Given the description of an element on the screen output the (x, y) to click on. 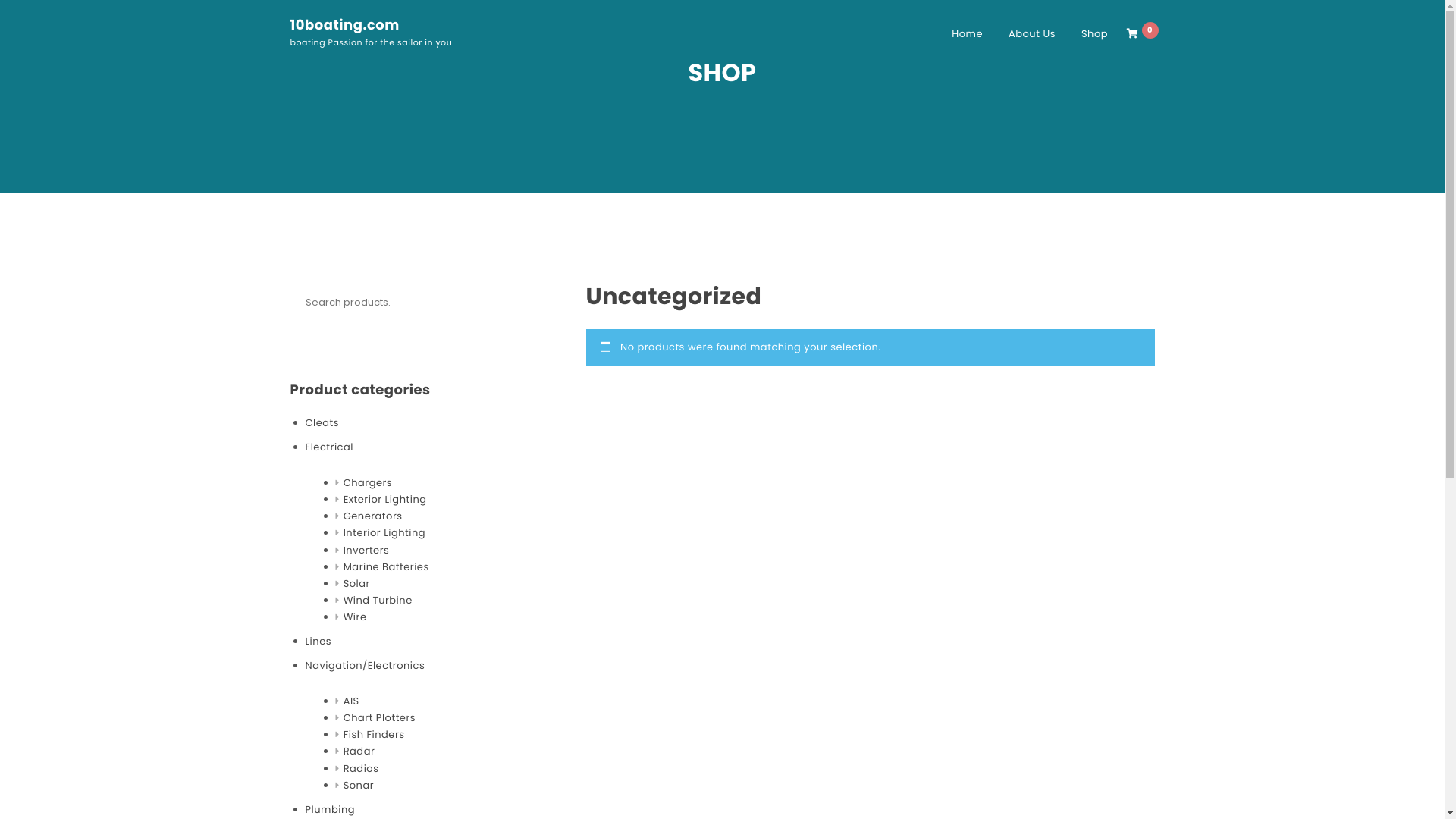
Search Element type: text (48, 20)
Fish Finders Element type: text (373, 734)
Shop Element type: text (1094, 33)
Inverters Element type: text (366, 550)
Lines Element type: text (317, 641)
Chargers Element type: text (367, 482)
Navigation/Electronics Element type: text (364, 665)
Exterior Lighting Element type: text (384, 499)
Solar Element type: text (356, 583)
Chart Plotters Element type: text (379, 717)
Home Element type: text (967, 33)
Electrical Element type: text (328, 447)
Radios Element type: text (361, 768)
Sonar Element type: text (358, 785)
Plumbing Element type: text (329, 809)
Wind Turbine Element type: text (377, 600)
Interior Lighting Element type: text (384, 532)
0 Element type: text (1142, 34)
Cleats Element type: text (321, 422)
Generators Element type: text (372, 516)
Wire Element type: text (355, 616)
Marine Batteries Element type: text (386, 566)
Radar Element type: text (359, 751)
10boating.com Element type: text (343, 25)
AIS Element type: text (351, 701)
About Us Element type: text (1032, 33)
Skip to content Element type: text (0, 0)
